Given the description of an element on the screen output the (x, y) to click on. 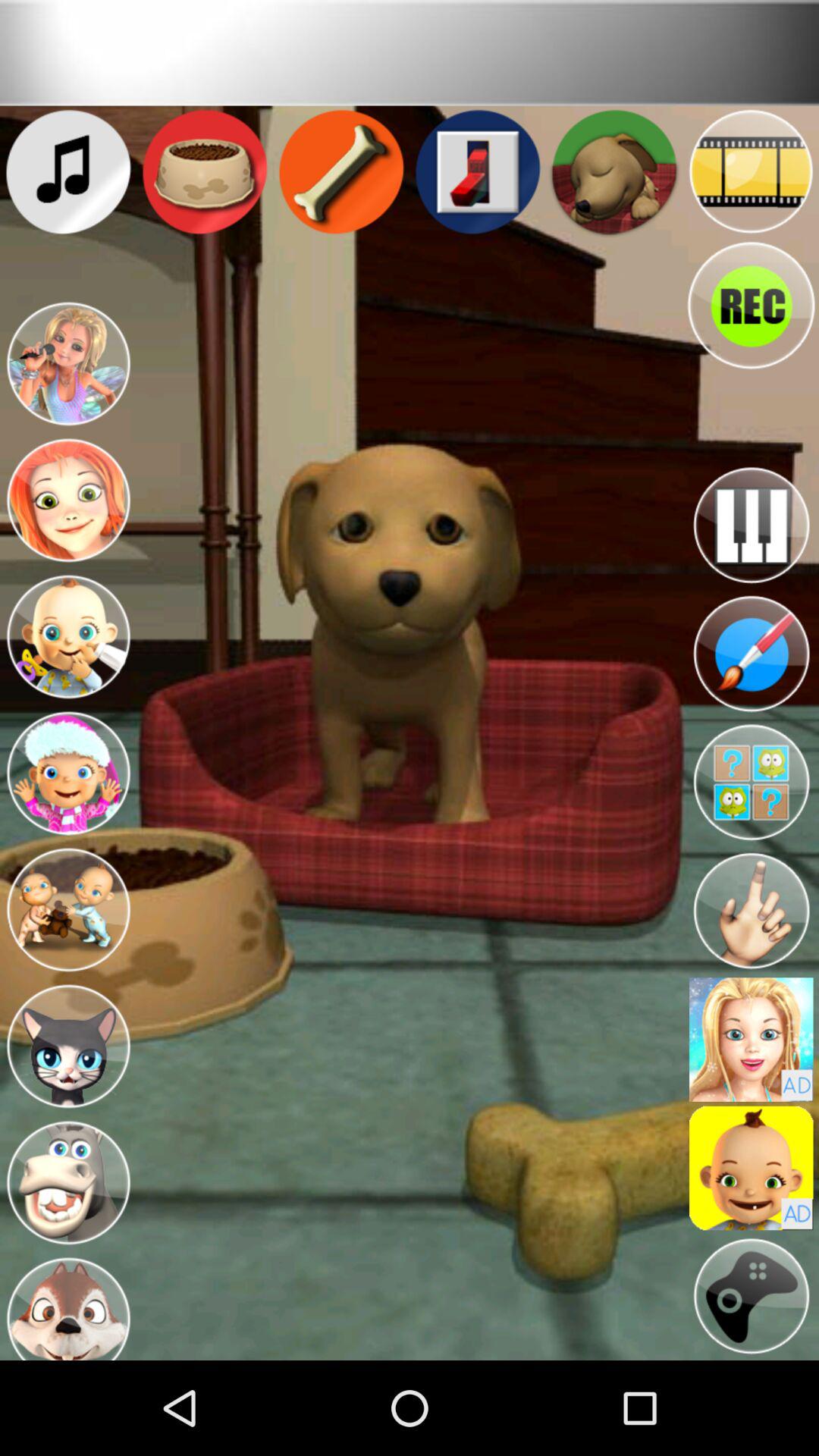
choose cat (68, 1046)
